Given the description of an element on the screen output the (x, y) to click on. 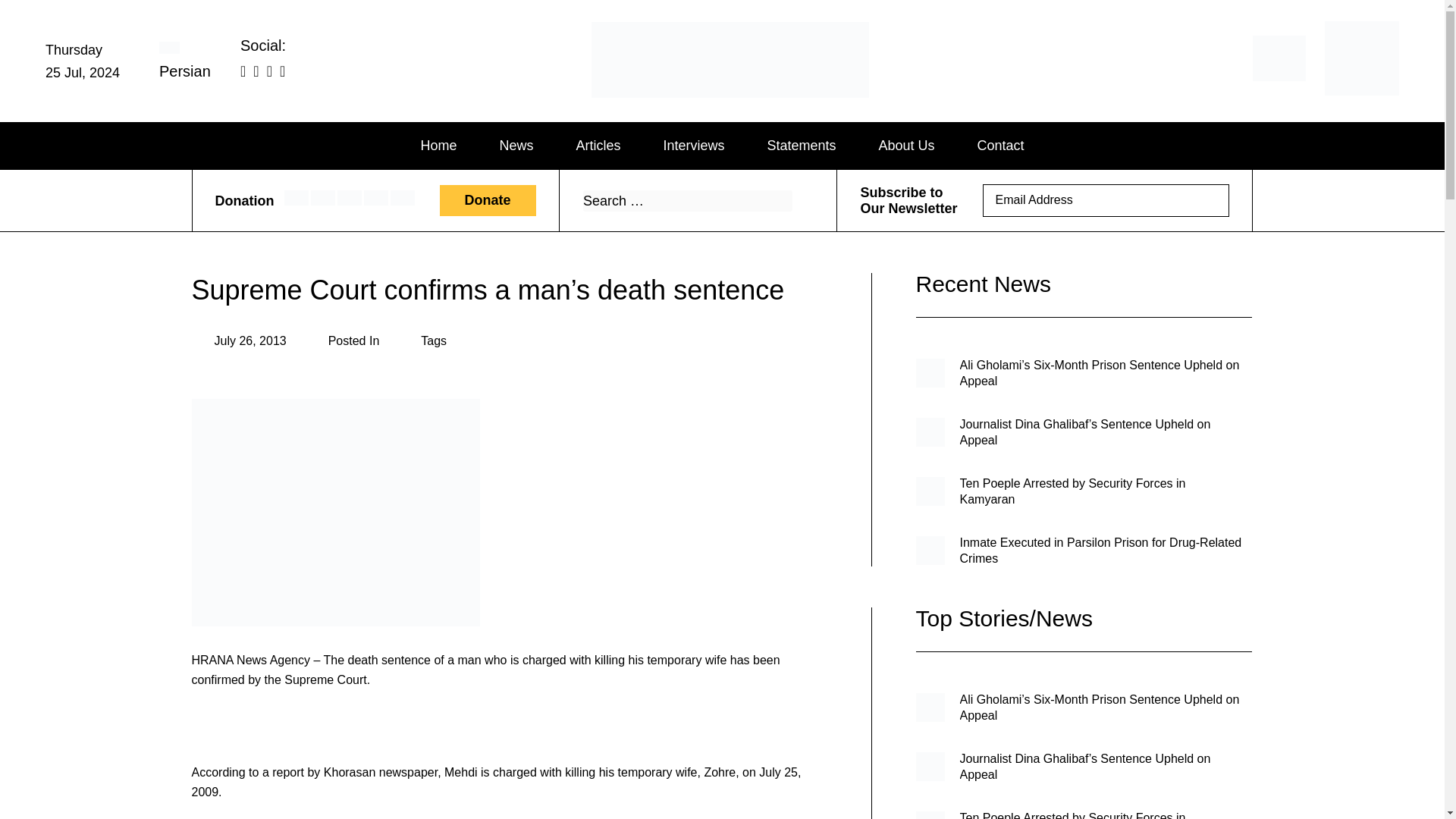
Search (801, 200)
Donate (487, 201)
Hrana (655, 98)
Sign up (1207, 200)
July 26, 2013 (237, 340)
Articles (598, 145)
Sign up (1207, 201)
About Us (906, 145)
News (515, 145)
Search (801, 199)
Statements (801, 145)
Home (437, 145)
Interviews (693, 145)
Search (801, 199)
Contact (1000, 145)
